Given the description of an element on the screen output the (x, y) to click on. 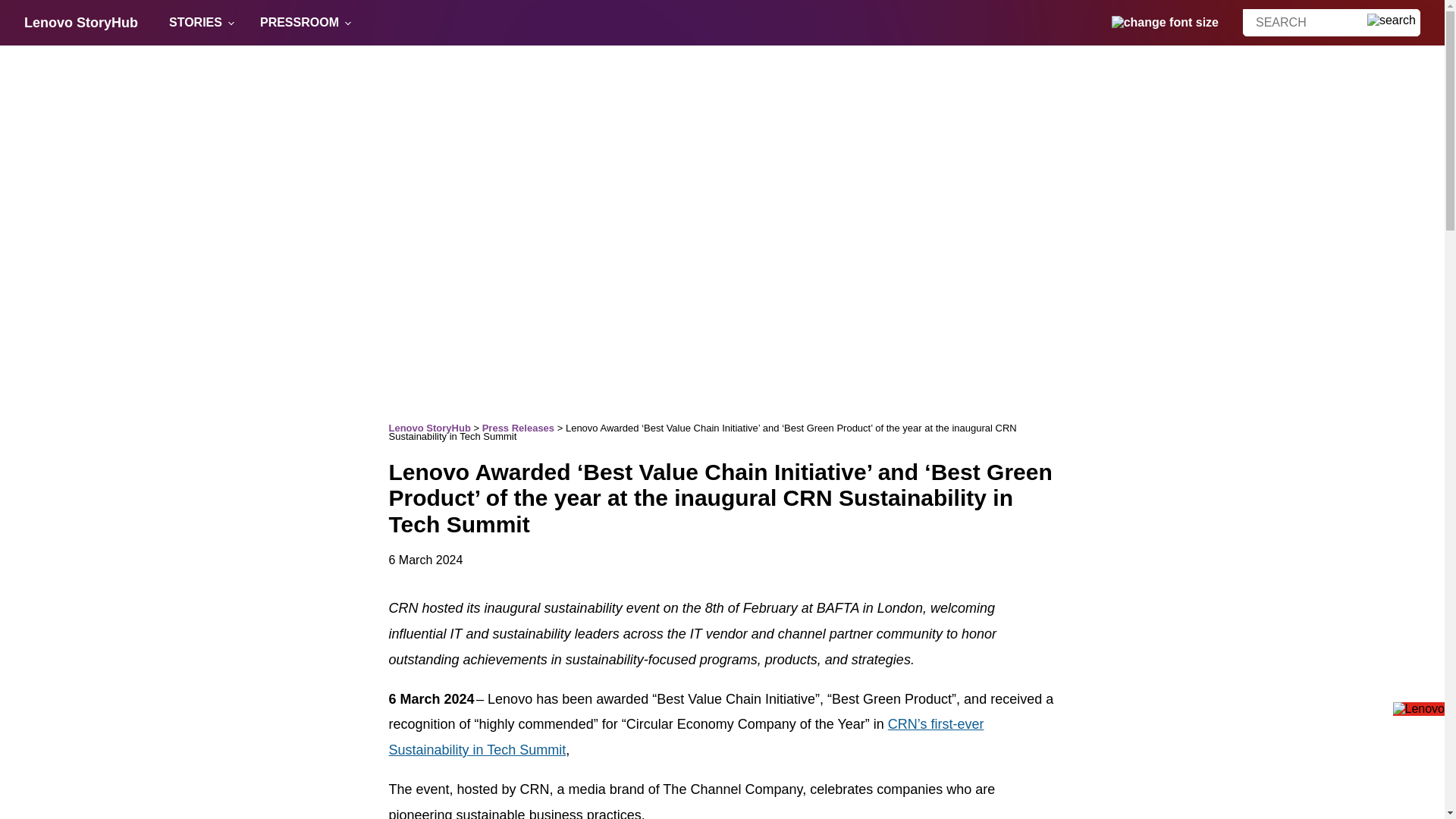
Lenovo StoryHub (81, 23)
STORIES (195, 22)
Lenovo StoryHub (81, 23)
Press Releases (517, 428)
PRESSROOM (299, 22)
Lenovo StoryHub (429, 428)
